Given the description of an element on the screen output the (x, y) to click on. 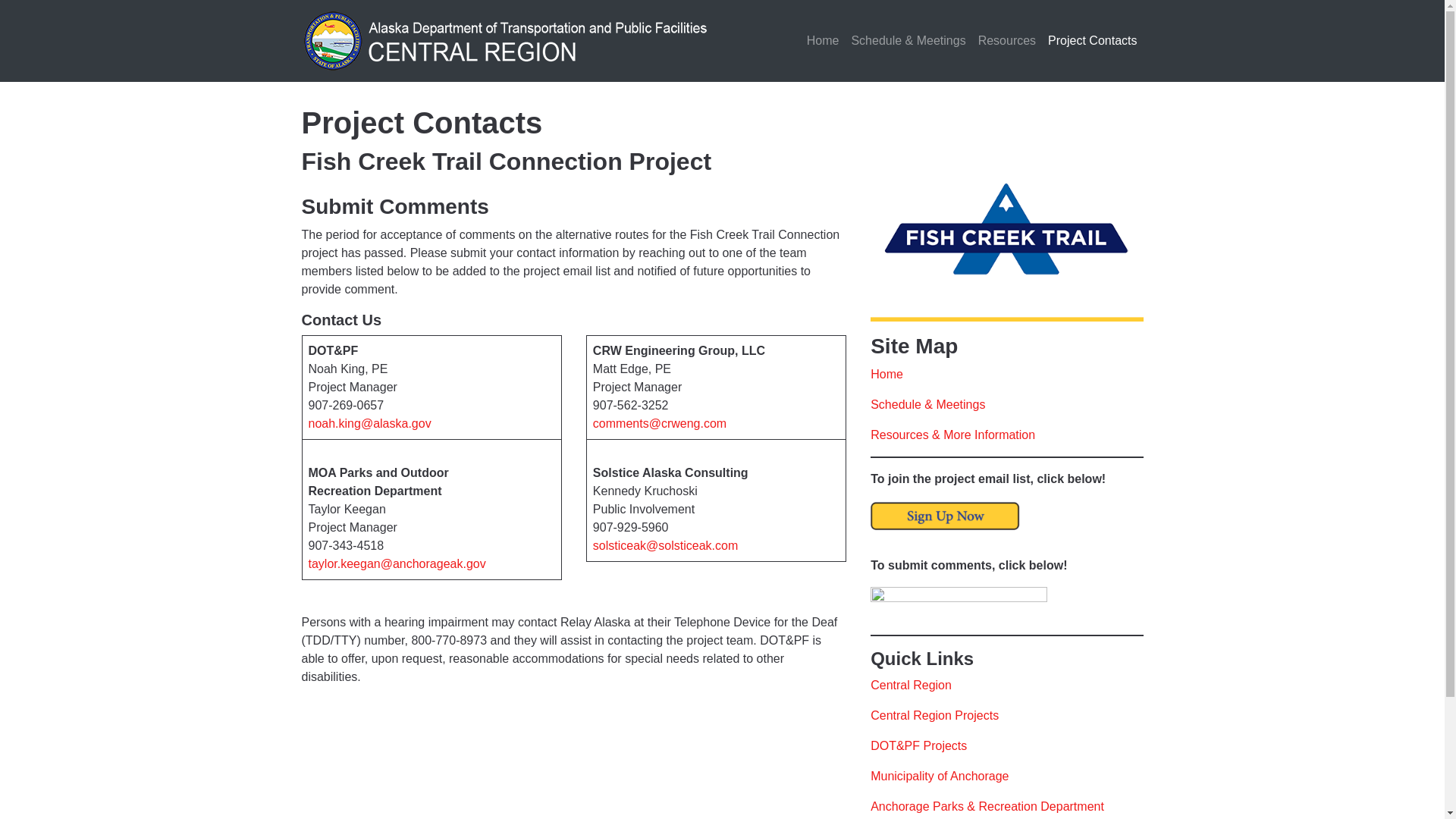
Home (822, 40)
Municipality of Anchorage (939, 775)
Central Region Projects (934, 715)
Home (822, 40)
Resources (1007, 40)
Resources (1007, 40)
Project Contacts (1092, 40)
Home (886, 373)
Central Region (911, 684)
Project Contacts (1092, 40)
